Given the description of an element on the screen output the (x, y) to click on. 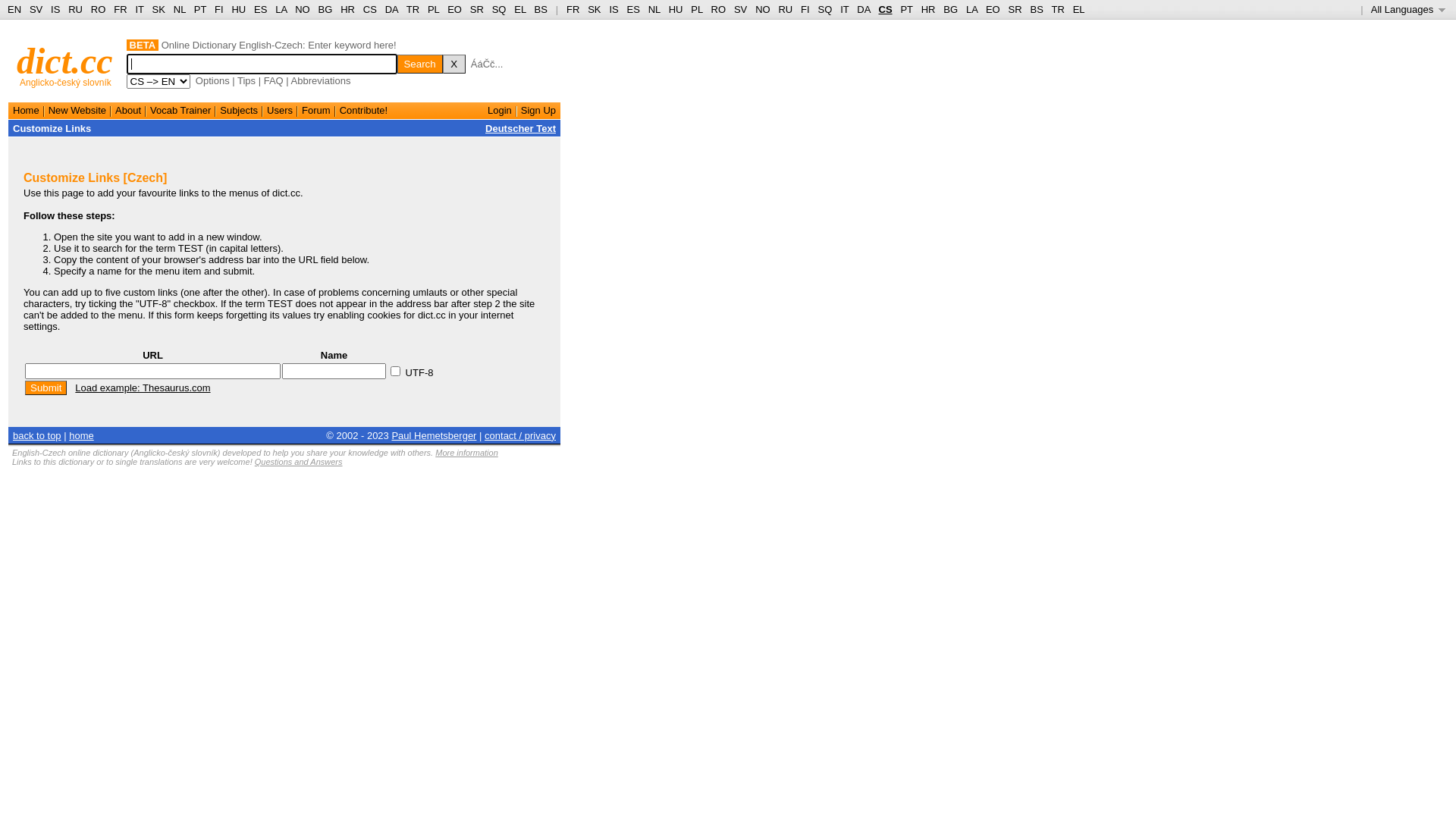
BG Element type: text (950, 9)
IT Element type: text (844, 9)
About Element type: text (128, 110)
EO Element type: text (992, 9)
New Website Element type: text (77, 110)
Deutscher Text Element type: text (520, 128)
back to top Element type: text (36, 434)
SV Element type: text (35, 9)
Submit Element type: text (45, 387)
dict.cc Element type: text (64, 60)
RU Element type: text (785, 9)
EN Element type: text (14, 9)
SQ Element type: text (824, 9)
Login Element type: text (499, 110)
HR Element type: text (928, 9)
NL Element type: text (179, 9)
IS Element type: text (613, 9)
Contribute! Element type: text (363, 110)
DA Element type: text (391, 9)
Questions and Answers Element type: text (298, 461)
Load example: Thesaurus.com Element type: text (142, 387)
CS Element type: text (369, 9)
HU Element type: text (675, 9)
PL Element type: text (433, 9)
EO Element type: text (454, 9)
Tips Element type: text (246, 80)
Abbreviations Element type: text (321, 80)
More information Element type: text (466, 452)
SK Element type: text (158, 9)
FI Element type: text (218, 9)
IT Element type: text (138, 9)
FI Element type: text (804, 9)
NO Element type: text (302, 9)
X Element type: text (453, 63)
SQ Element type: text (499, 9)
SK Element type: text (593, 9)
PL Element type: text (696, 9)
contact / privacy Element type: text (519, 434)
HR Element type: text (347, 9)
Options Element type: text (212, 80)
Home Element type: text (25, 110)
NO Element type: text (762, 9)
DA Element type: text (862, 9)
HU Element type: text (238, 9)
Subjects Element type: text (238, 110)
TR Element type: text (1057, 9)
home Element type: text (81, 434)
TR Element type: text (412, 9)
FR Element type: text (119, 9)
RU Element type: text (75, 9)
NL Element type: text (654, 9)
BG Element type: text (325, 9)
Forum Element type: text (315, 110)
SR Element type: text (1015, 9)
PT Element type: text (200, 9)
IS Element type: text (54, 9)
SR Element type: text (476, 9)
BS Element type: text (540, 9)
Vocab Trainer Element type: text (180, 110)
LA Element type: text (280, 9)
ES Element type: text (633, 9)
All Languages  Element type: text (1408, 9)
LA Element type: text (971, 9)
EL Element type: text (519, 9)
RO Element type: text (718, 9)
RO Element type: text (98, 9)
CS Element type: text (884, 9)
SV Element type: text (740, 9)
Paul Hemetsberger Element type: text (433, 434)
EL Element type: text (1079, 9)
FR Element type: text (572, 9)
FAQ Element type: text (273, 80)
PT Element type: text (906, 9)
Users Element type: text (279, 110)
BS Element type: text (1035, 9)
Search Element type: text (419, 63)
ES Element type: text (260, 9)
Sign Up Element type: text (537, 110)
